Given the description of an element on the screen output the (x, y) to click on. 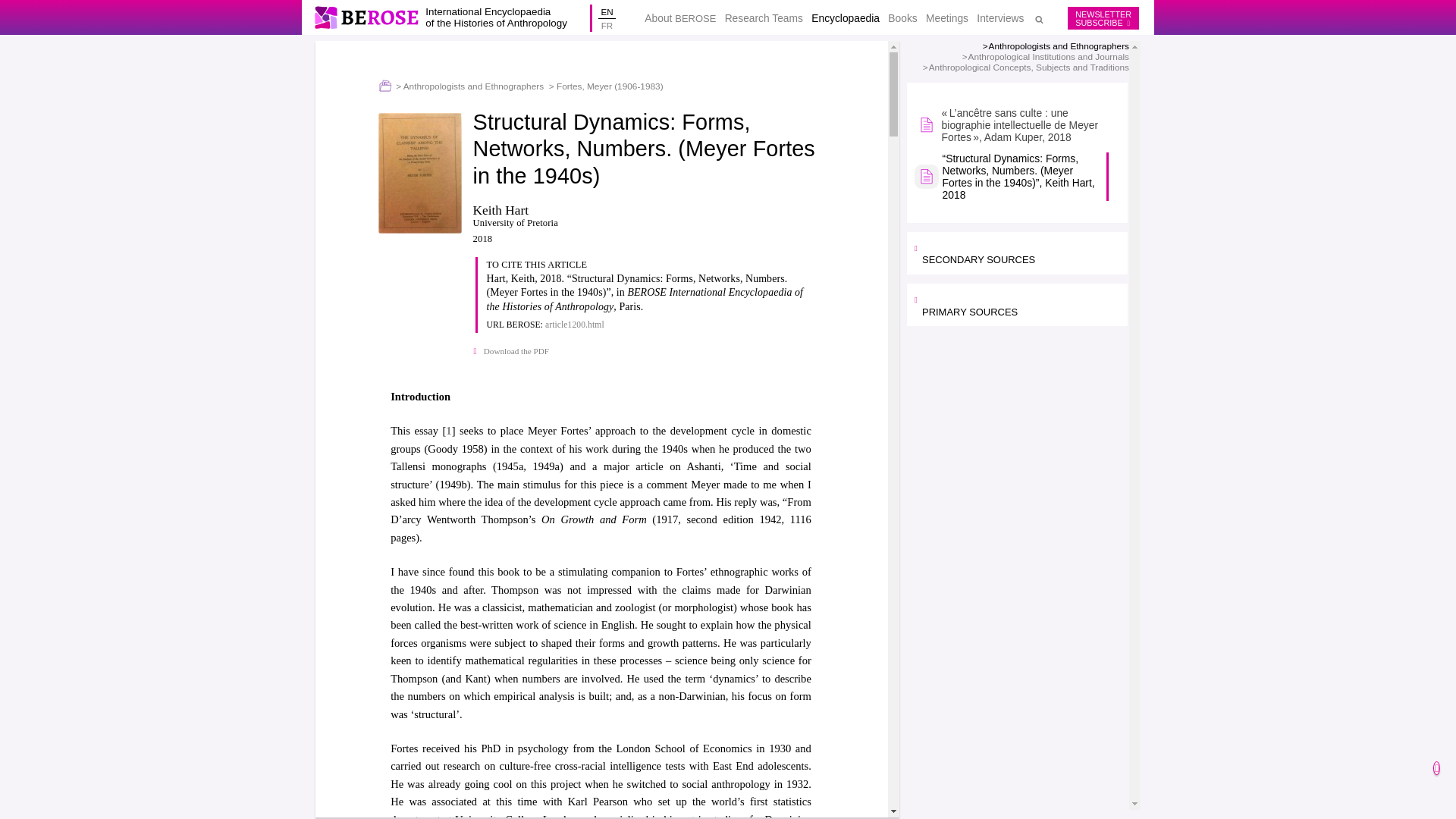
Encyclopaedia (844, 18)
Download the PDF (511, 349)
Interviews (999, 18)
article1200.html (574, 325)
Home (369, 17)
English (1102, 18)
Unfold (606, 11)
Unfold (1020, 305)
Books (1020, 254)
